Given the description of an element on the screen output the (x, y) to click on. 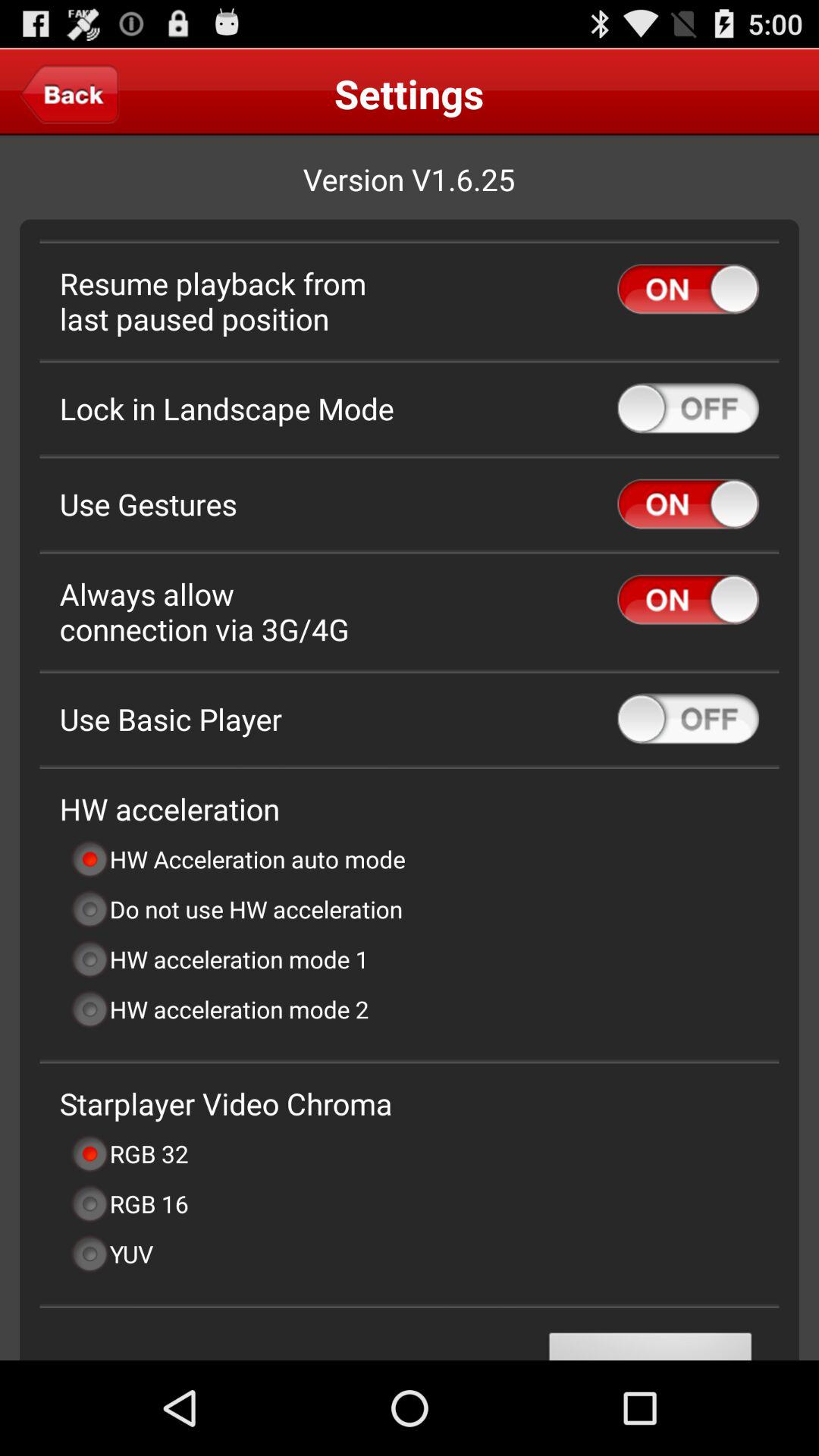
select the item above rgb 16 radio button (128, 1153)
